Given the description of an element on the screen output the (x, y) to click on. 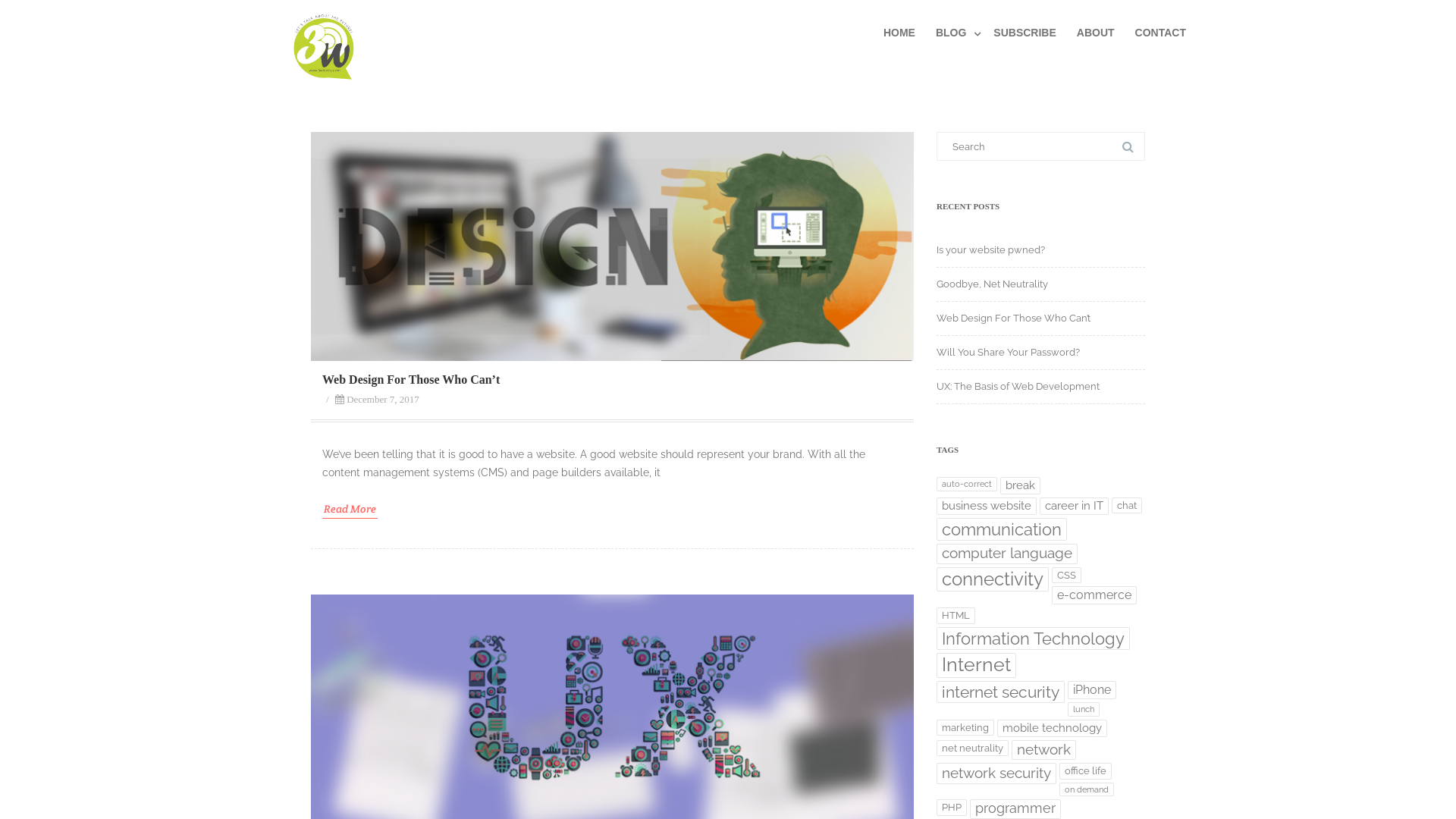
communication Element type: text (1001, 528)
CSS Element type: text (1066, 575)
HTML Element type: text (955, 615)
network Element type: text (1043, 750)
SUBSCRIBE Element type: text (1024, 32)
Search for: Element type: hover (1040, 145)
connectivity Element type: text (992, 579)
UX: The Basis of Web Development Element type: text (1017, 386)
on demand Element type: text (1086, 789)
office life Element type: text (1085, 770)
Goodbye, Net Neutrality Element type: text (992, 283)
PHP Element type: text (951, 807)
career in IT Element type: text (1073, 505)
lunch Element type: text (1083, 709)
Will You Share Your Password? Element type: text (1007, 351)
computer language Element type: text (1006, 553)
mobile technology Element type: text (1052, 728)
Internet Element type: text (976, 664)
iPhone Element type: text (1091, 689)
Is your website pwned? Element type: text (990, 249)
business website Element type: text (986, 505)
3w Today Element type: hover (320, 87)
BLOG Element type: text (953, 32)
network security Element type: text (996, 772)
marketing Element type: text (965, 727)
HOME Element type: text (899, 32)
break Element type: text (1020, 485)
ABOUT Element type: text (1095, 32)
auto-correct Element type: text (966, 483)
Read More Element type: text (349, 508)
chat Element type: text (1126, 505)
CONTACT Element type: text (1160, 32)
e-commerce Element type: text (1093, 595)
net neutrality Element type: text (972, 748)
Information Technology Element type: text (1032, 638)
internet security Element type: text (1000, 691)
